Given the description of an element on the screen output the (x, y) to click on. 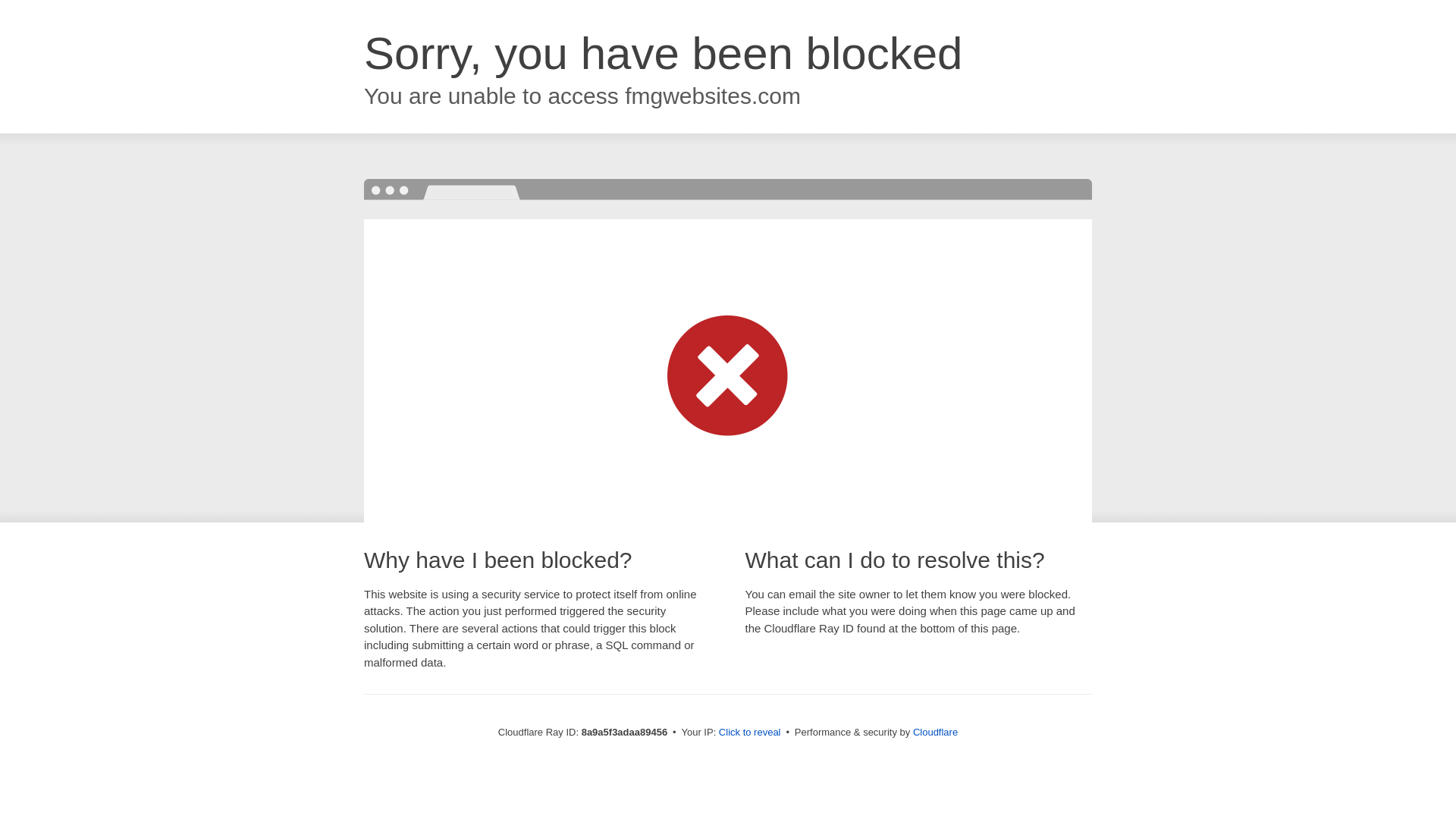
Cloudflare (935, 731)
Click to reveal (749, 732)
